Given the description of an element on the screen output the (x, y) to click on. 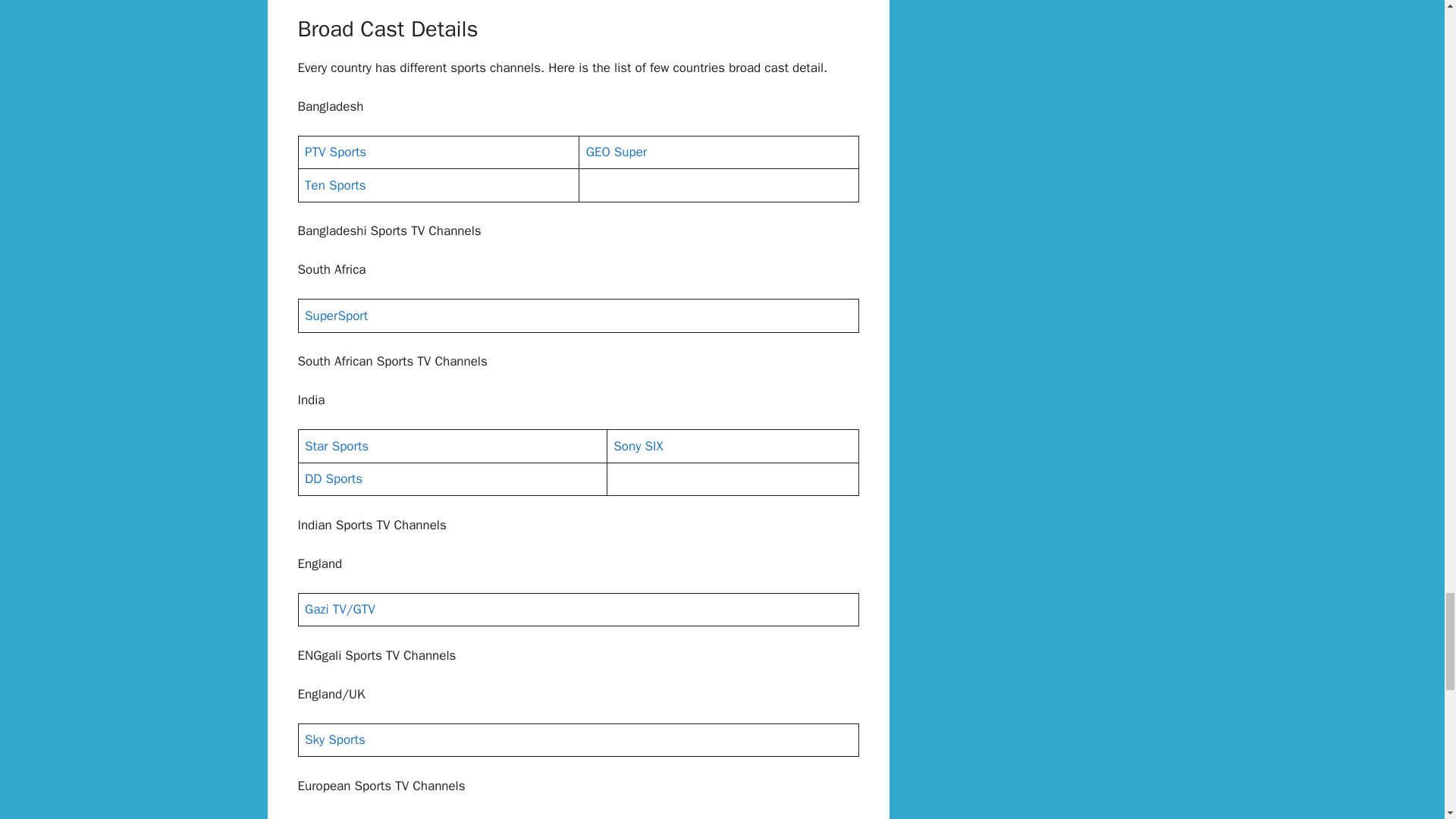
Sky Sports (334, 739)
Sony SIX (637, 446)
DD Sports (333, 478)
Star Sports (336, 446)
SuperSport (336, 315)
GEO Super (616, 151)
Ten Sports (334, 185)
PTV Sports (335, 151)
